Given the description of an element on the screen output the (x, y) to click on. 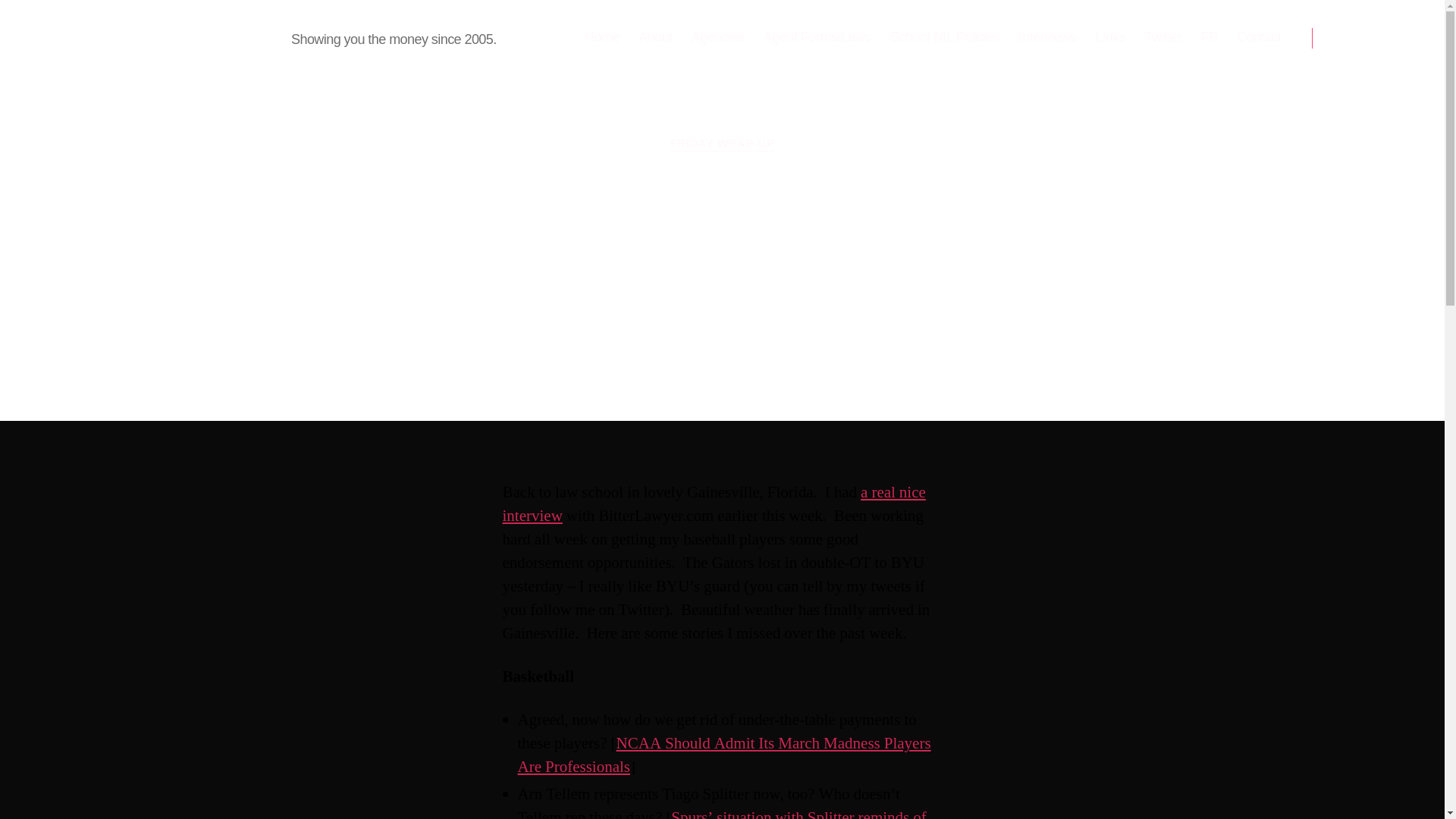
Contact (1258, 37)
External link (713, 504)
Twitter (1163, 37)
SPORTS AGENT BLOG (178, 37)
School NIL Policies (944, 37)
External Link (723, 755)
FB (1209, 37)
Interviews (1048, 37)
Agencies (717, 37)
About (655, 37)
Links (1110, 37)
Search (1350, 37)
FRIDAY WRAP-UP (721, 143)
March 19, 2010 (800, 350)
External Link (721, 813)
